Given the description of an element on the screen output the (x, y) to click on. 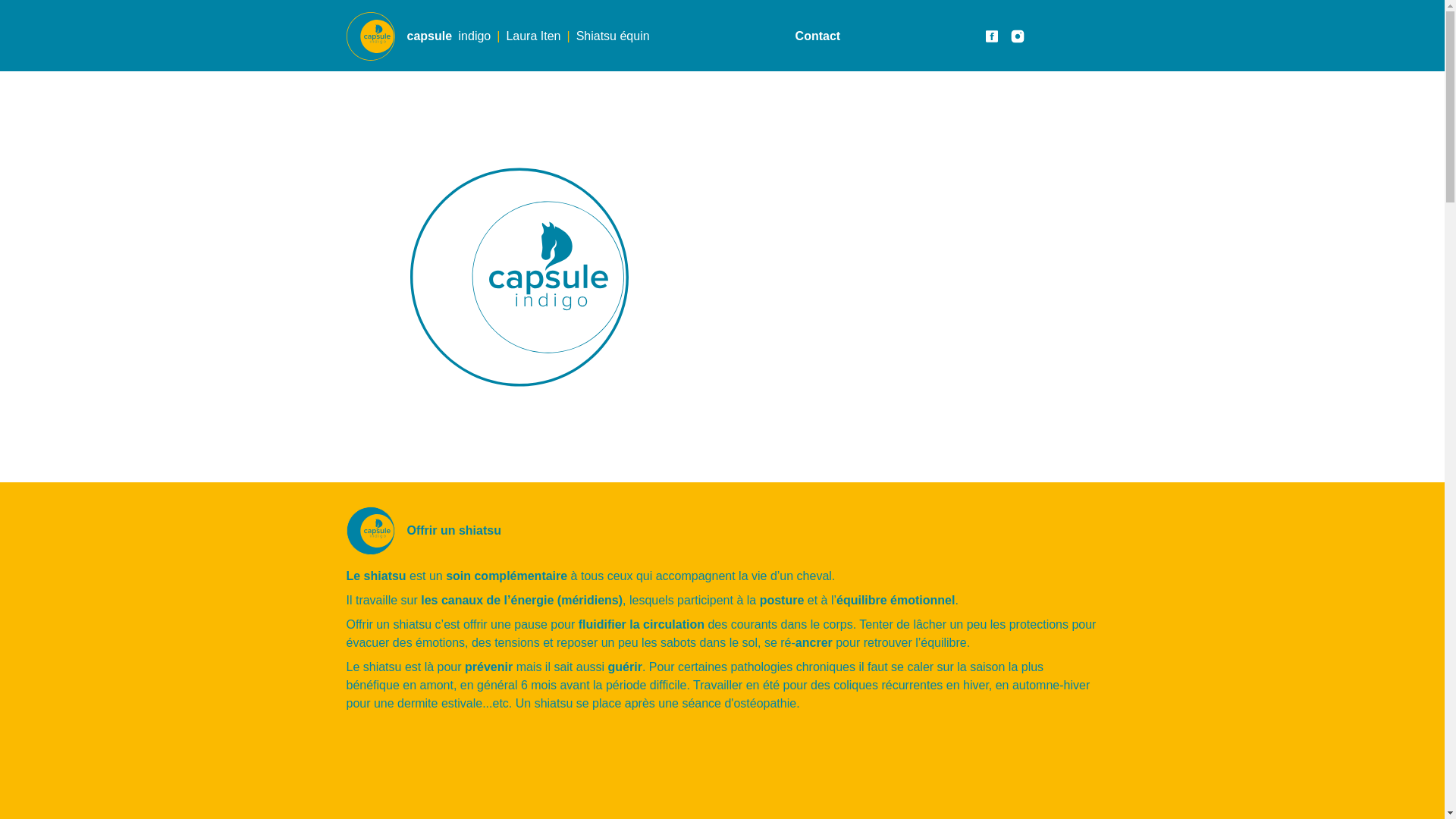
Contact Element type: text (817, 36)
